Given the description of an element on the screen output the (x, y) to click on. 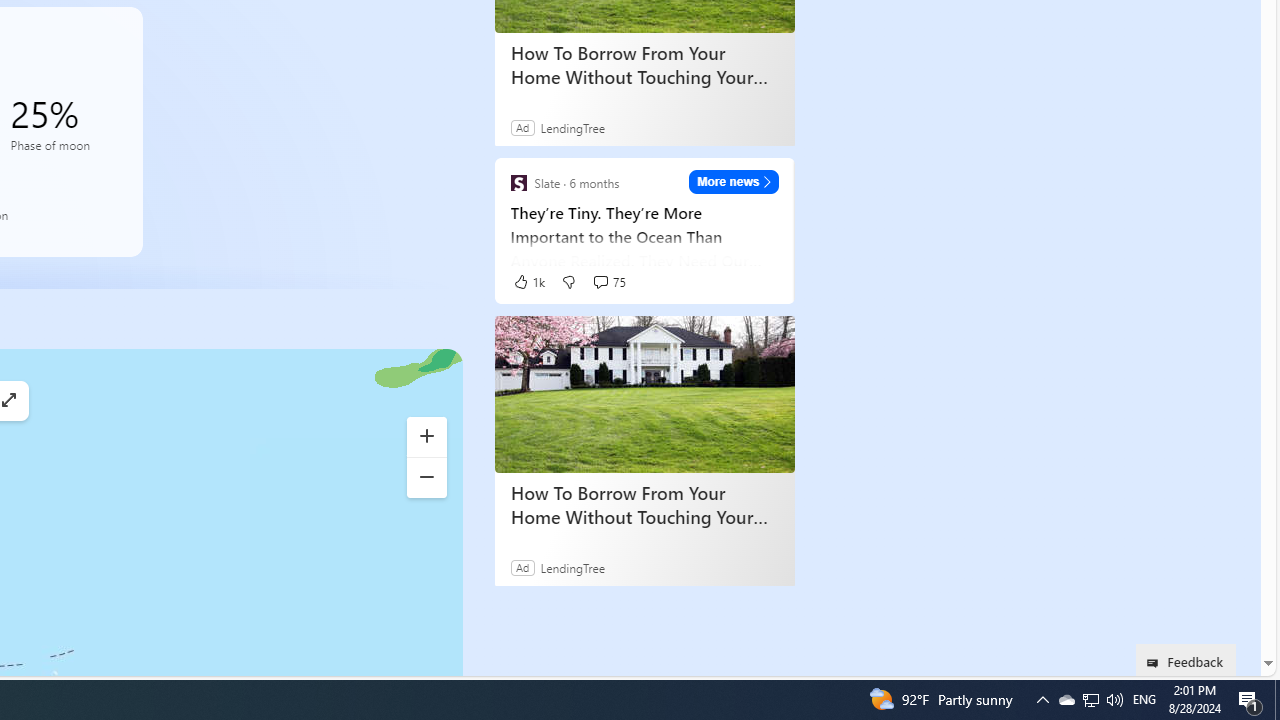
How To Borrow From Your Home Without Touching Your Mortgage (644, 504)
How To Borrow From Your Home Without Touching Your Mortgage (644, 394)
Zoom in (425, 436)
More news (733, 181)
LendingTree (572, 567)
Zoom out (425, 477)
Class: feedback_link_icon-DS-EntryPoint1-1 (1156, 663)
